Given the description of an element on the screen output the (x, y) to click on. 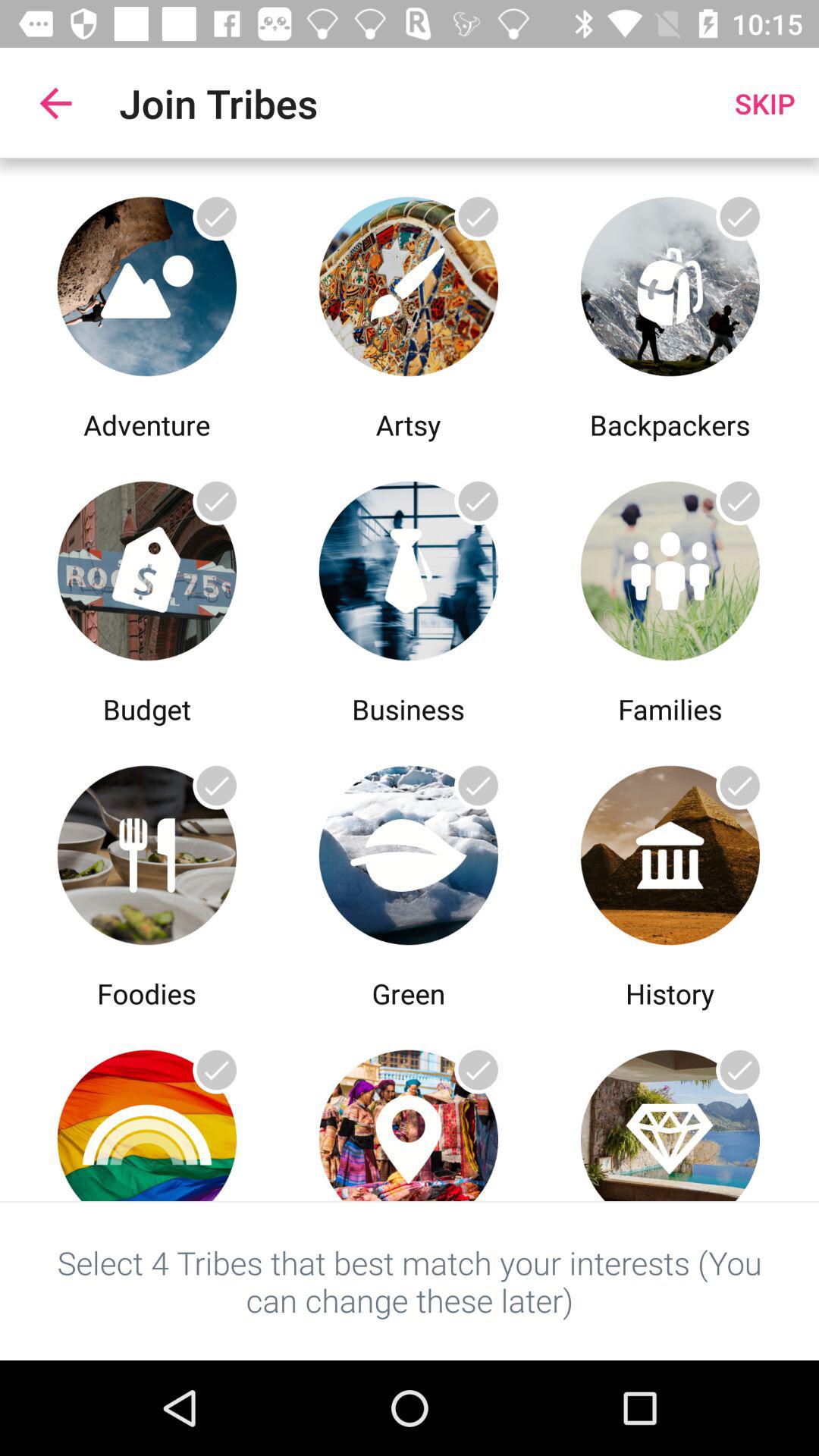
click on image which is above the history (669, 851)
